Given the description of an element on the screen output the (x, y) to click on. 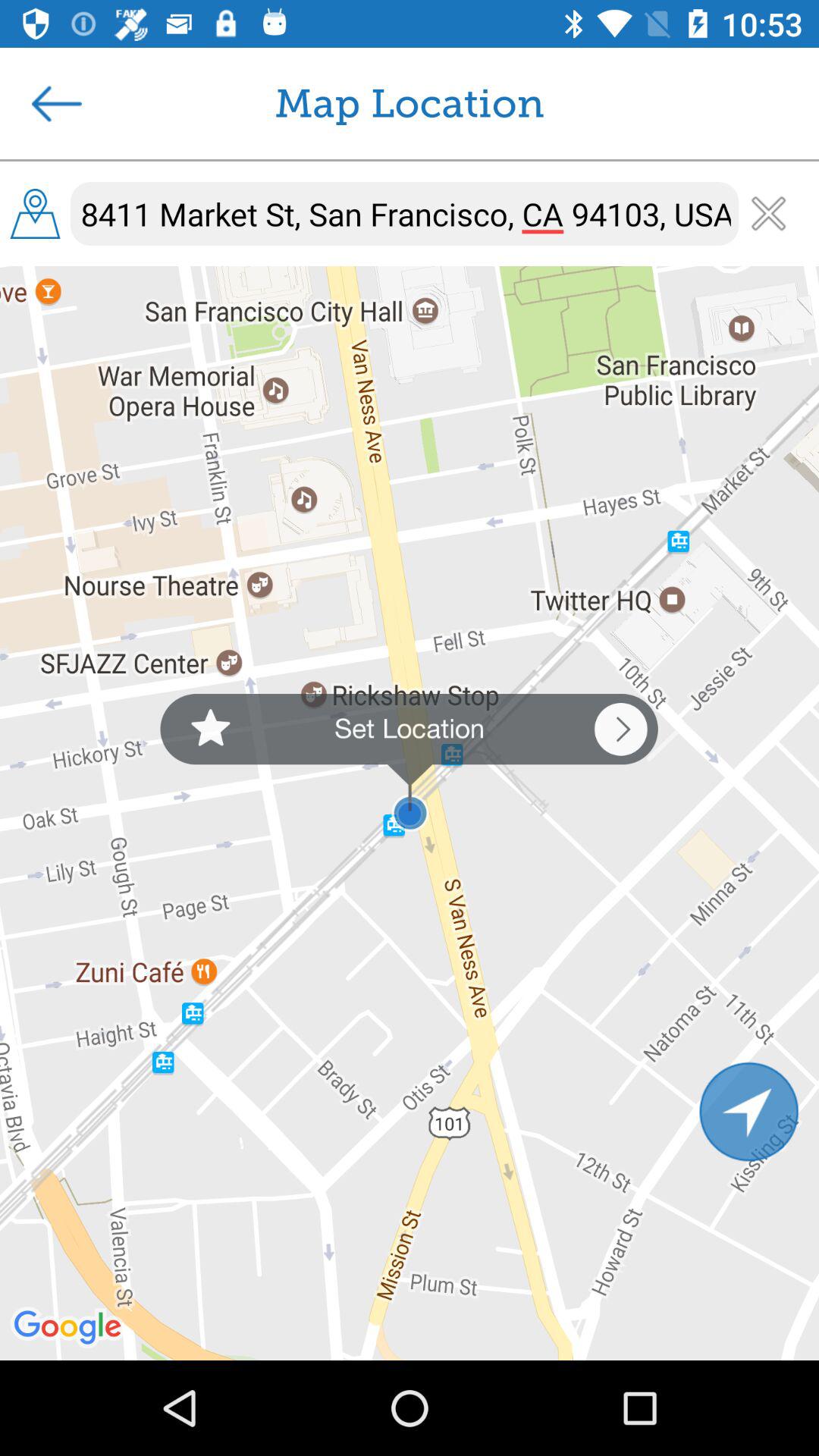
go back to previous screen (56, 103)
